Given the description of an element on the screen output the (x, y) to click on. 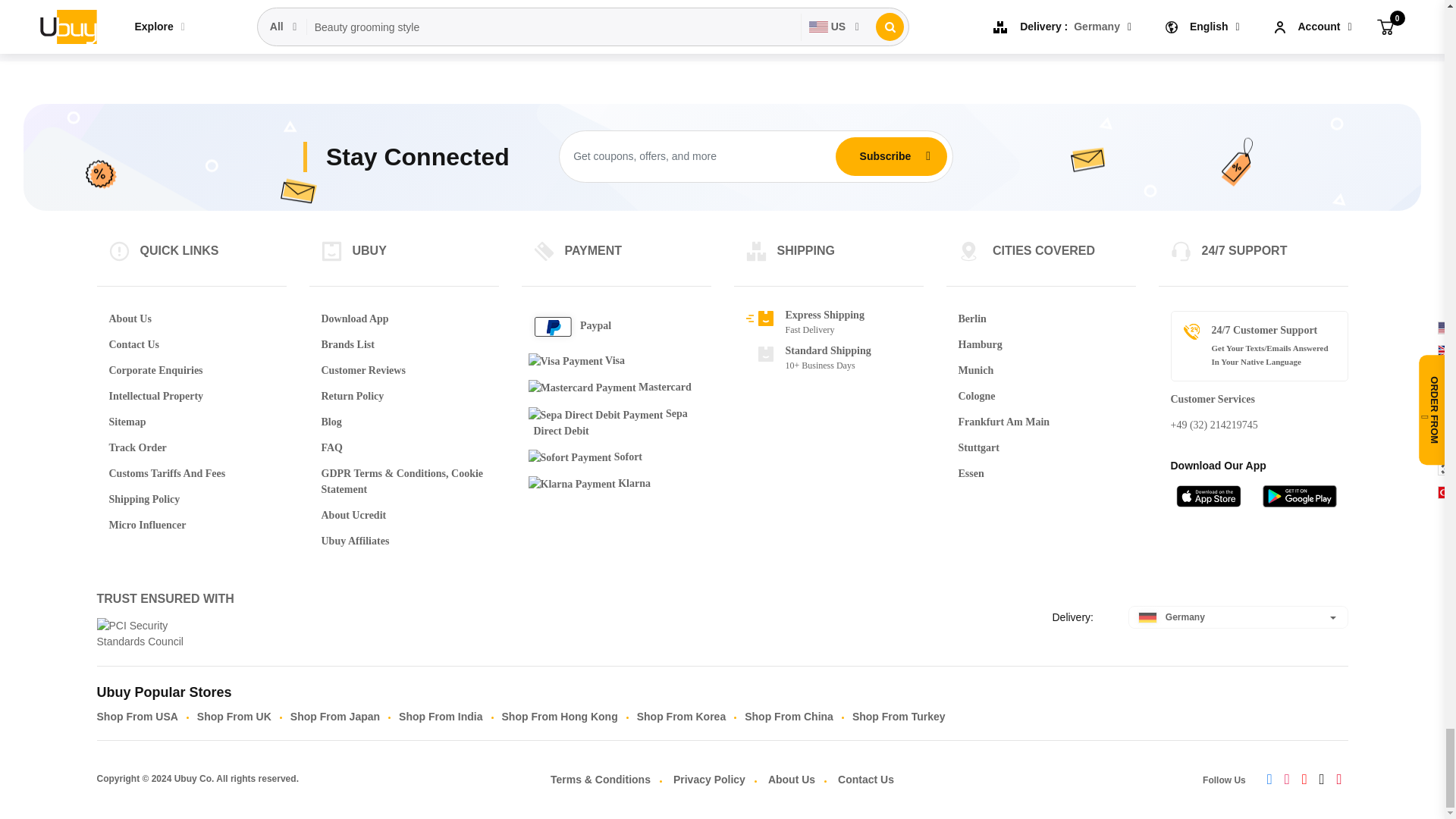
Subscribe (885, 155)
